Given the description of an element on the screen output the (x, y) to click on. 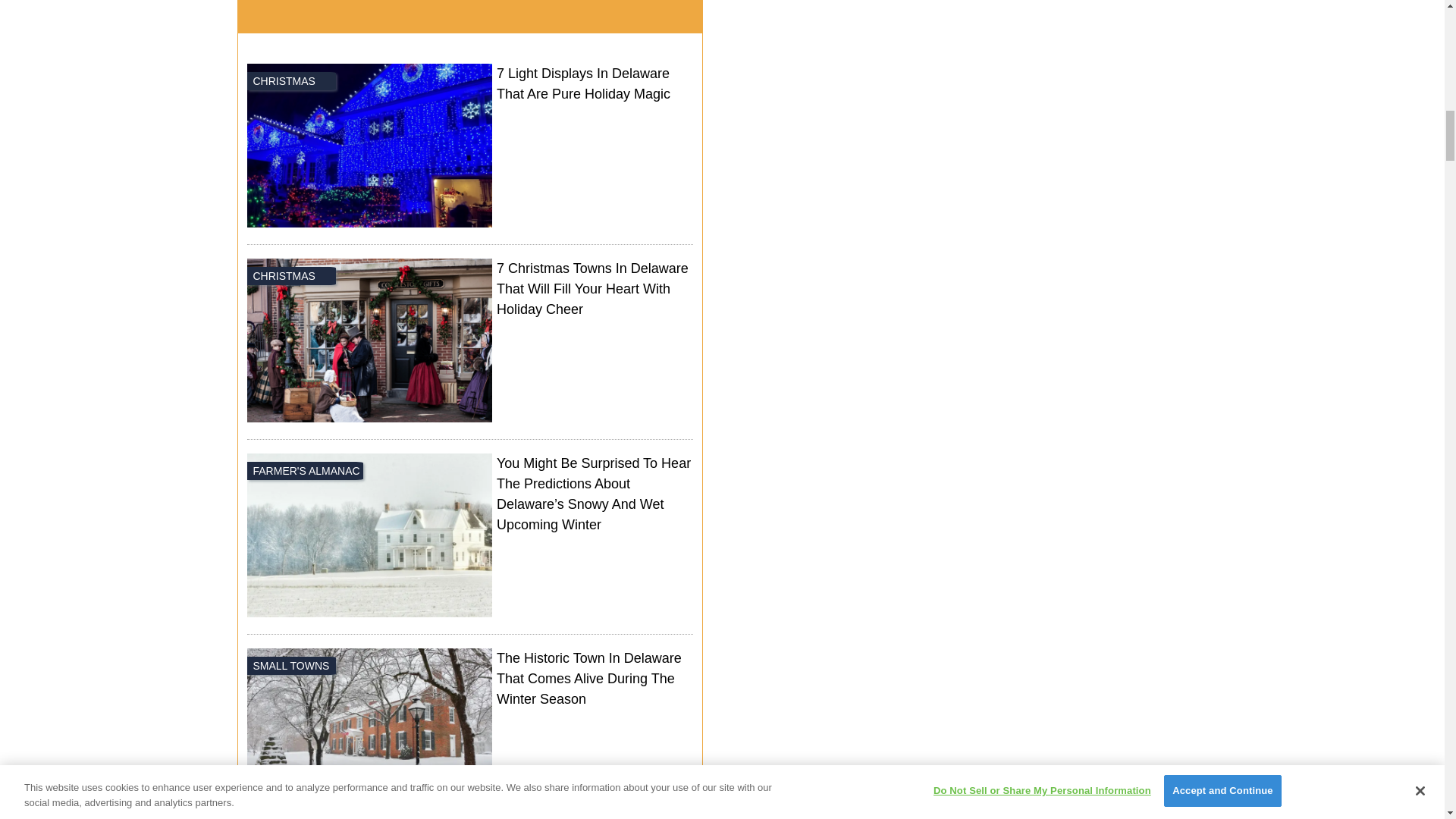
7 Light Displays In Delaware That Are Pure Holiday Magic (470, 146)
3rd party ad content (973, 69)
